Given the description of an element on the screen output the (x, y) to click on. 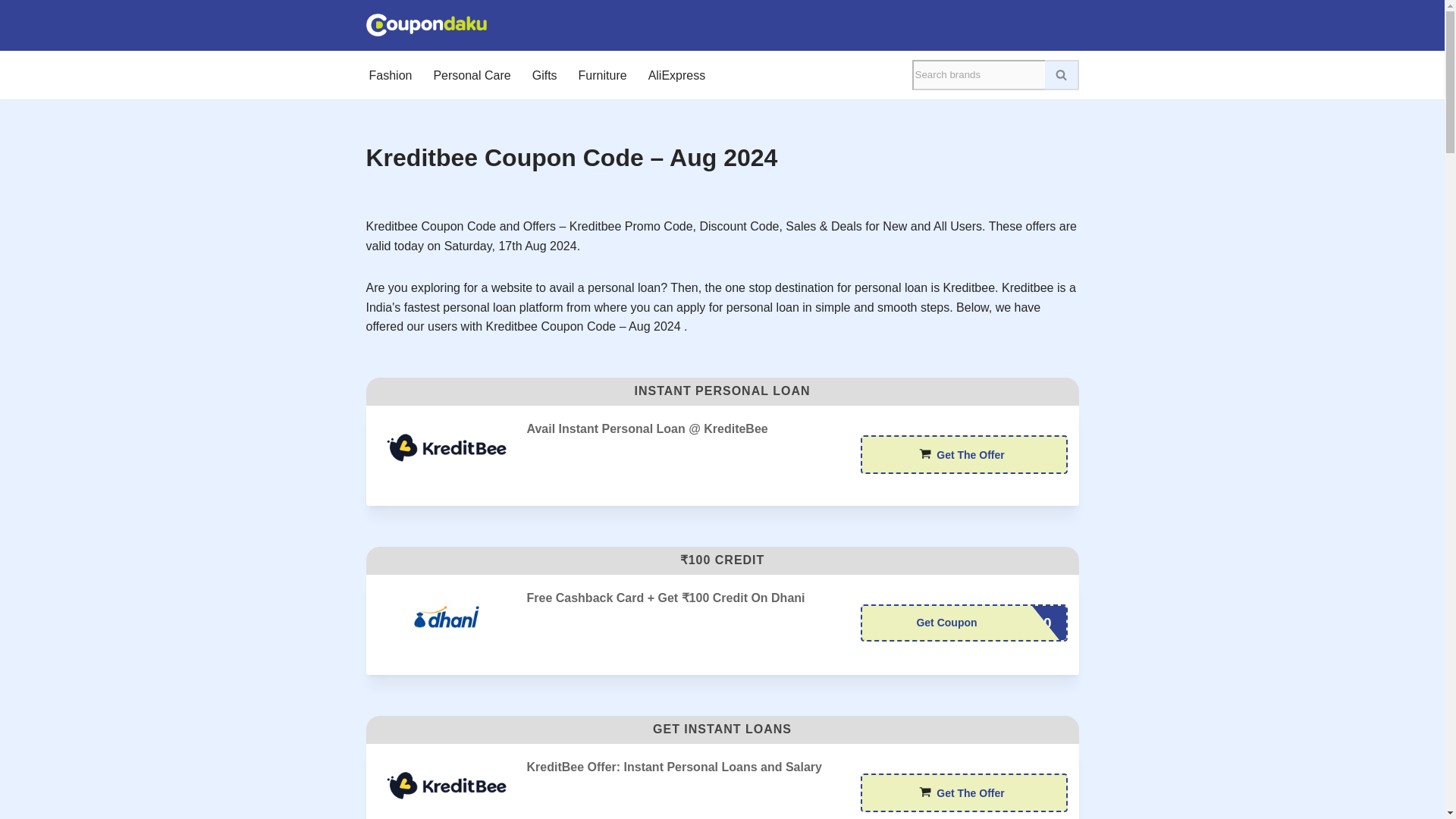
Fashion (390, 74)
Get The Offer (963, 792)
Personal Care (471, 74)
Get The Offer (963, 454)
Get Coupon (963, 622)
AliExpress (676, 74)
KreditBee Offer: Instant Personal Loans and Salary (446, 786)
Gifts (544, 74)
Get The Offer (963, 454)
